Given the description of an element on the screen output the (x, y) to click on. 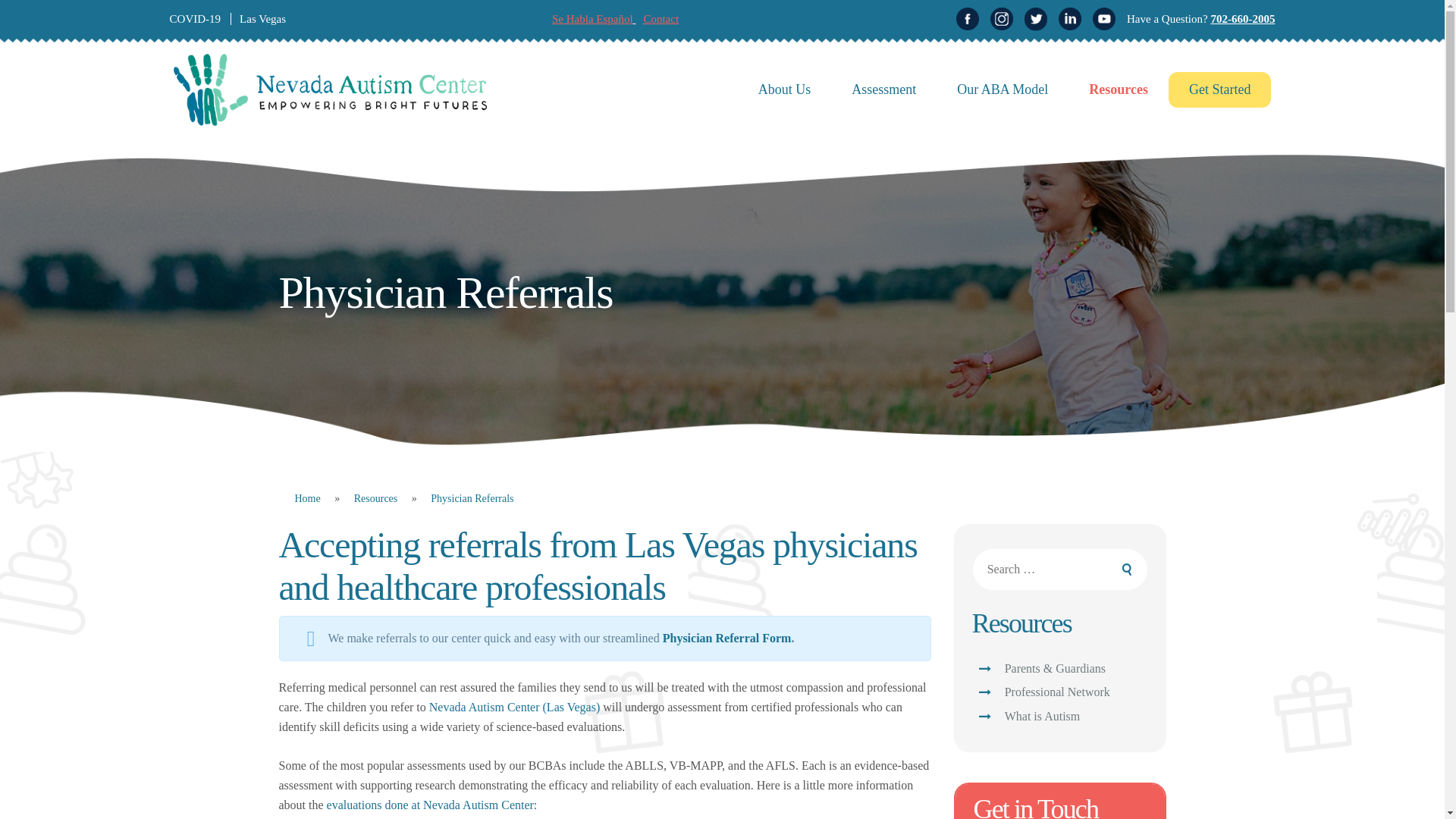
Our ABA Model (1002, 89)
Get Started (1220, 89)
Resources (376, 498)
Physician Referrals (472, 498)
What is Autism (1040, 716)
COVID-19 (195, 19)
Search (1118, 568)
702-660-2005 (1242, 19)
Assessment (883, 89)
Resources (376, 498)
Home (306, 498)
About Us (784, 89)
Contact (660, 19)
Resources (1118, 89)
Las Vegas (262, 19)
